Given the description of an element on the screen output the (x, y) to click on. 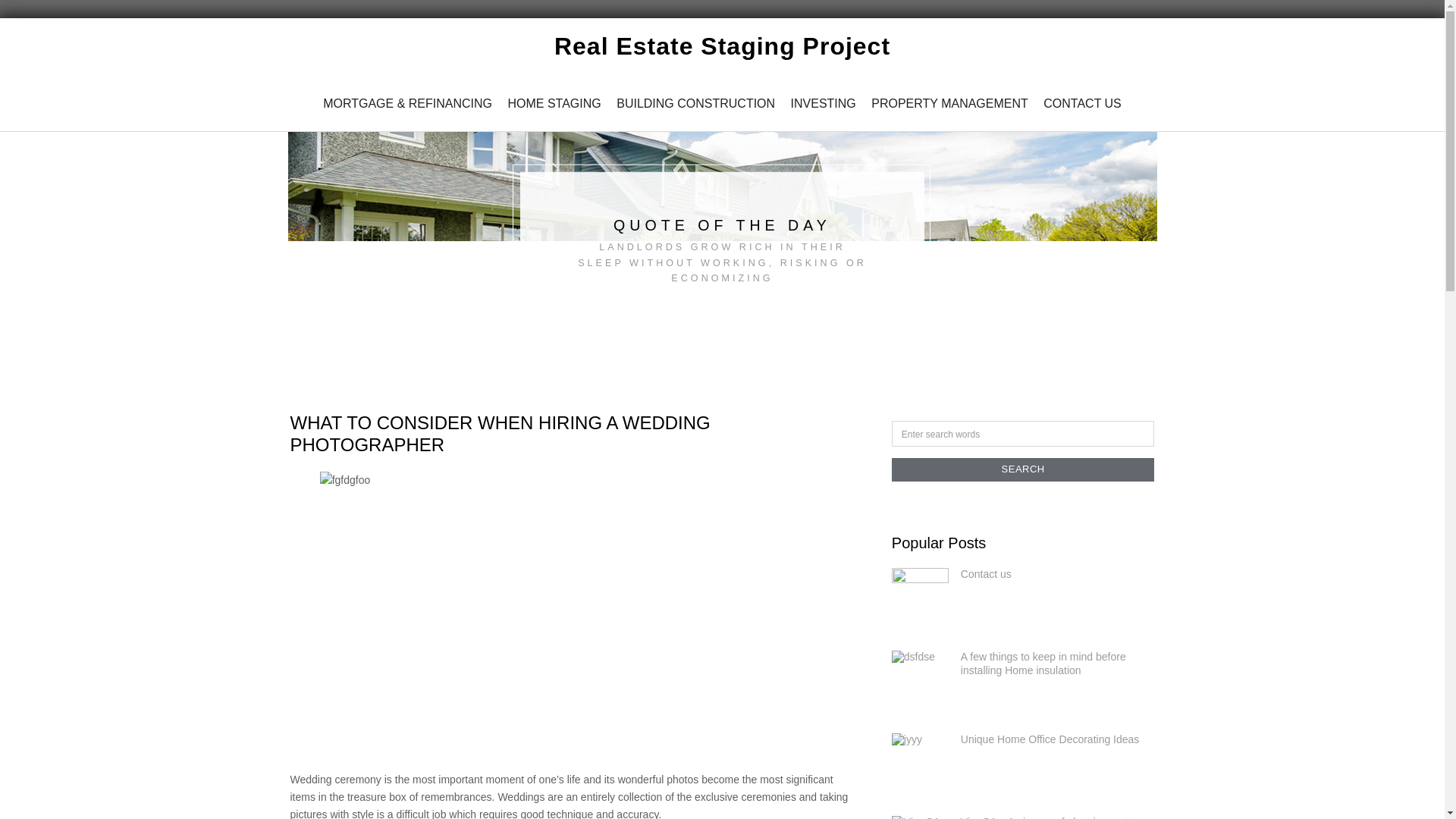
Contact us (985, 573)
Real Estate Staging Project (721, 45)
PROPERTY MANAGEMENT (948, 103)
Search (1022, 469)
BUILDING CONSTRUCTION (695, 103)
Search (1022, 469)
HOME STAGING (553, 103)
Search (1022, 433)
Search (1022, 469)
Unique Home Office Decorating Ideas (1050, 739)
